Given the description of an element on the screen output the (x, y) to click on. 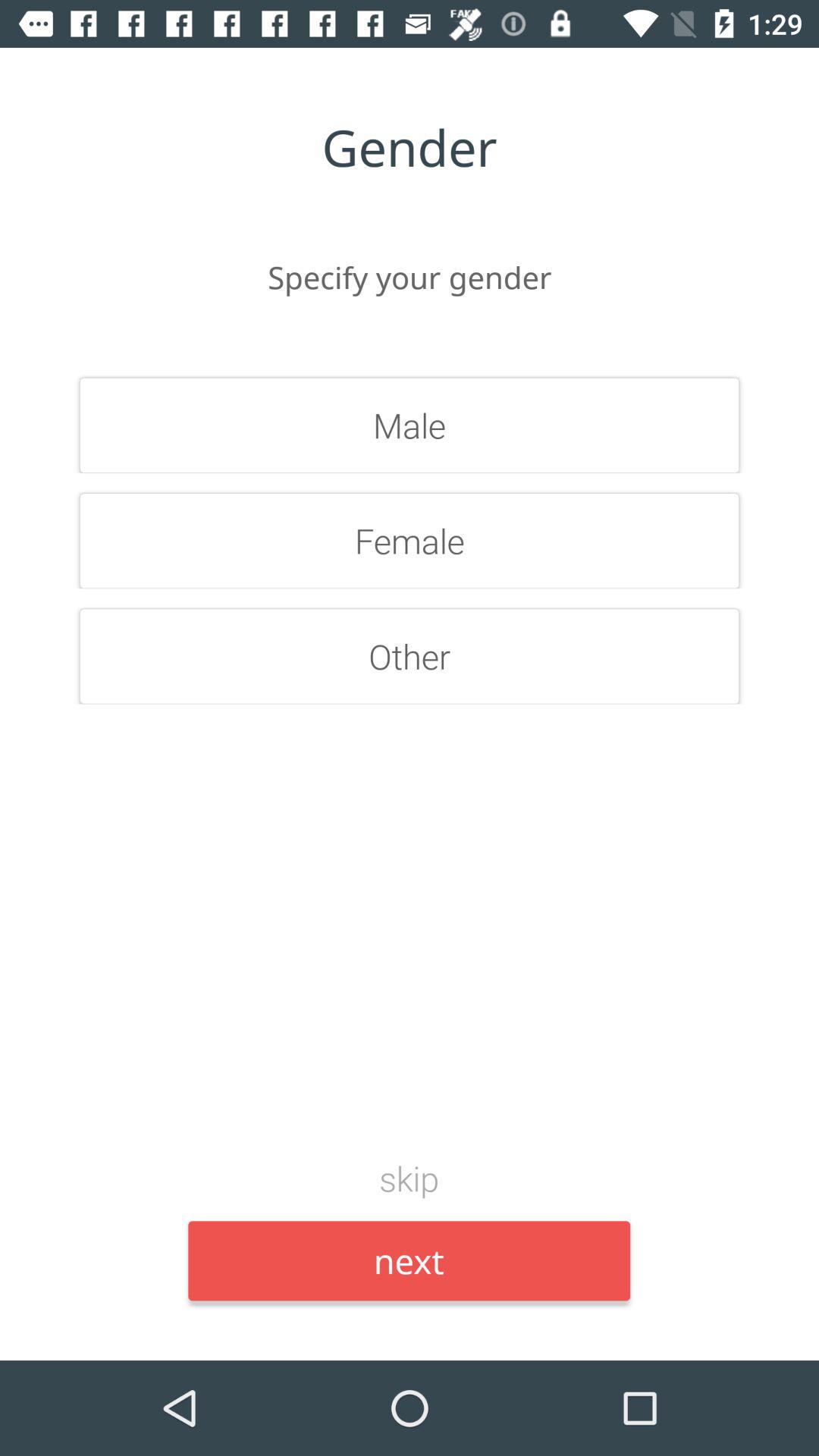
swipe until the skip icon (409, 1178)
